Given the description of an element on the screen output the (x, y) to click on. 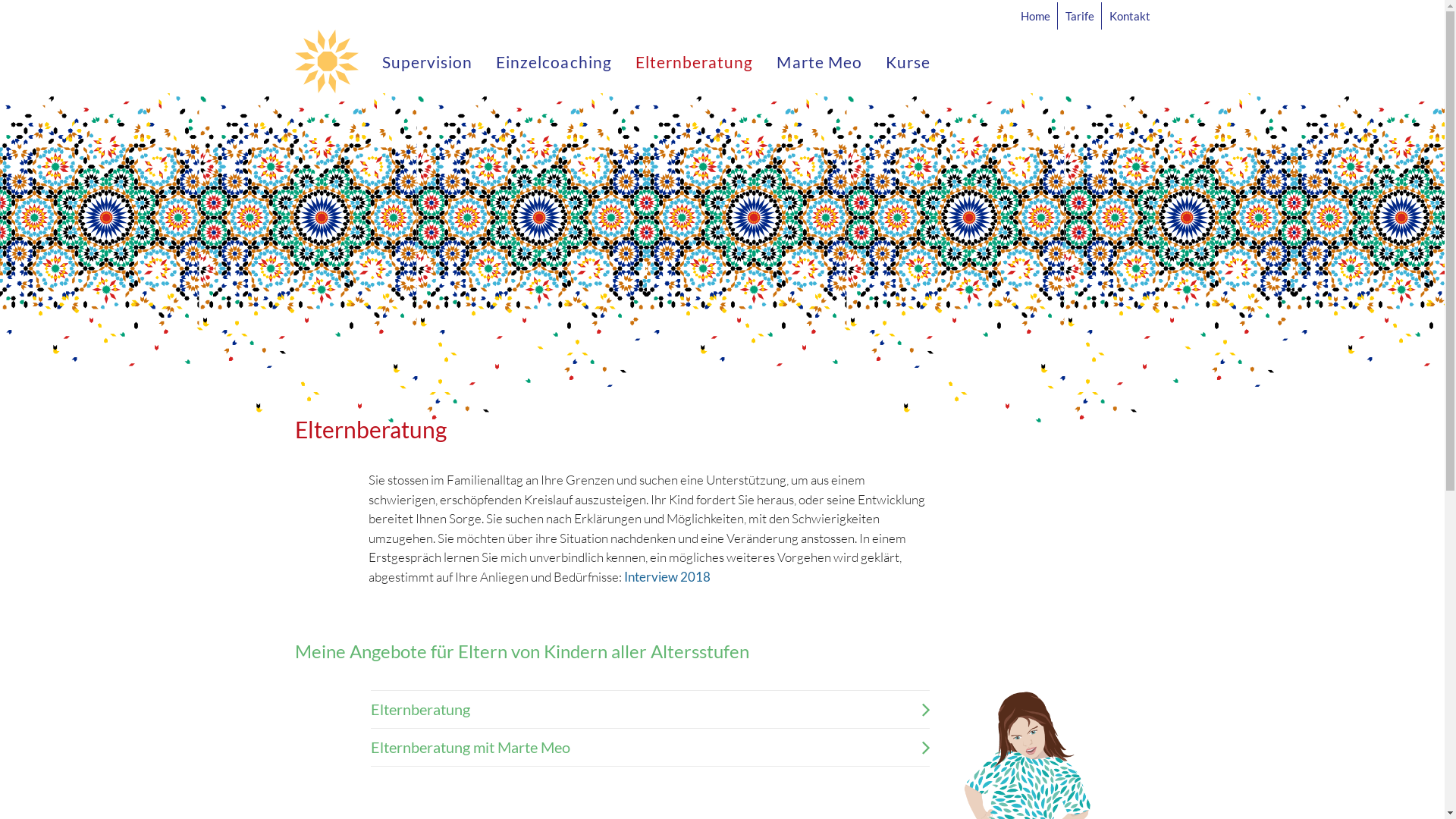
Interview 2018 Element type: text (666, 576)
Kontakt Element type: text (1126, 15)
Elternberatung mit Marte Meo Element type: text (649, 746)
Einzelcoaching Element type: text (553, 61)
Tarife Element type: text (1079, 15)
Marte Meo Element type: text (818, 61)
Supervision Element type: text (432, 61)
Elternberatung Element type: text (649, 709)
Elternberatung Element type: text (694, 61)
Kurse Element type: text (902, 61)
Home Element type: text (1038, 15)
